Given the description of an element on the screen output the (x, y) to click on. 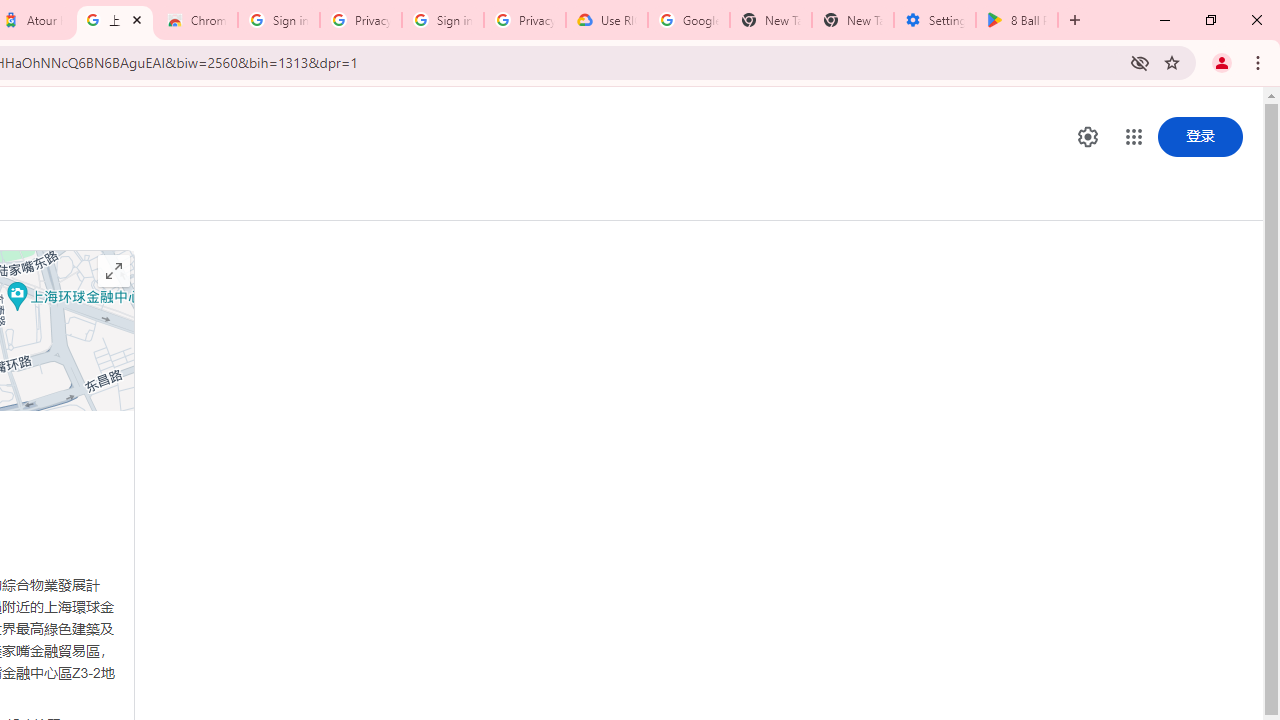
Sign in - Google Accounts (442, 20)
Sign in - Google Accounts (278, 20)
New Tab (852, 20)
Chrome Web Store - Color themes by Chrome (197, 20)
